Given the description of an element on the screen output the (x, y) to click on. 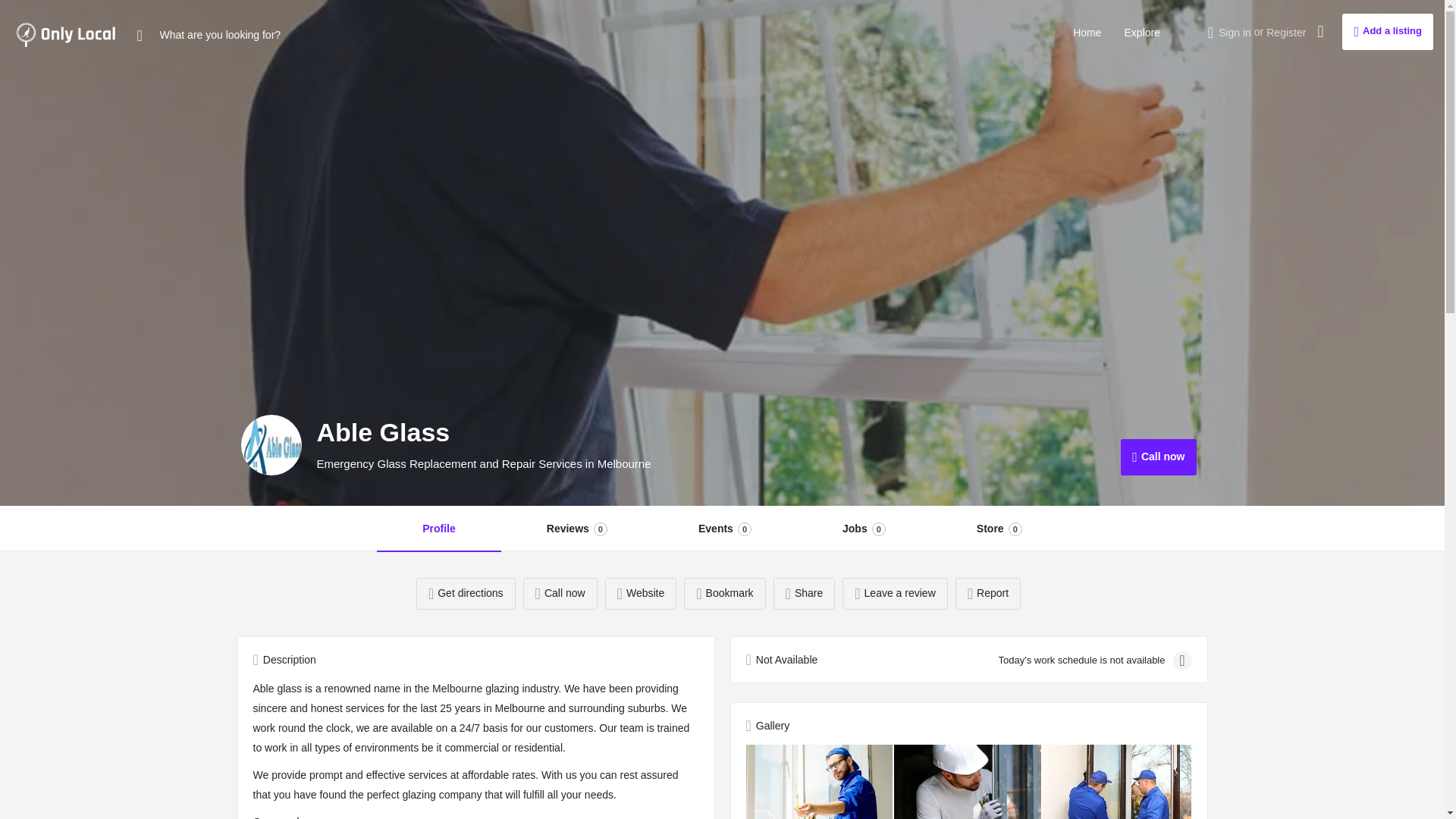
Report (999, 529)
Website (863, 529)
Share (987, 593)
Call now (641, 593)
Add a listing (804, 593)
Register (576, 529)
Home (559, 593)
Call now (1387, 31)
Sign in (1286, 31)
Leave a review (1086, 32)
Profile (1158, 456)
